Given the description of an element on the screen output the (x, y) to click on. 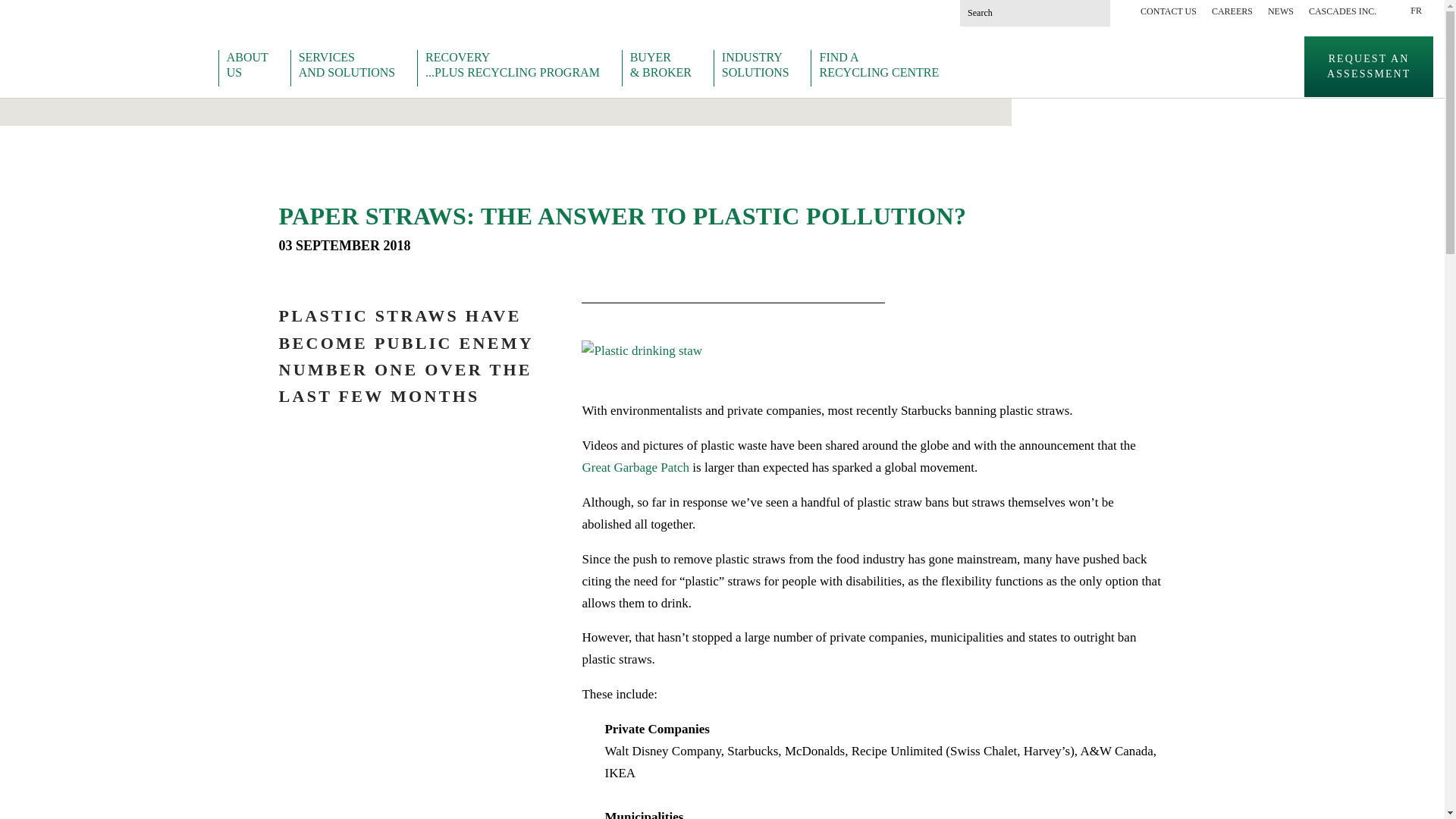
FR (1415, 10)
CAREERS (1232, 11)
REQUEST AN ASSESSMENT (518, 67)
SEARCH (1368, 66)
